Given the description of an element on the screen output the (x, y) to click on. 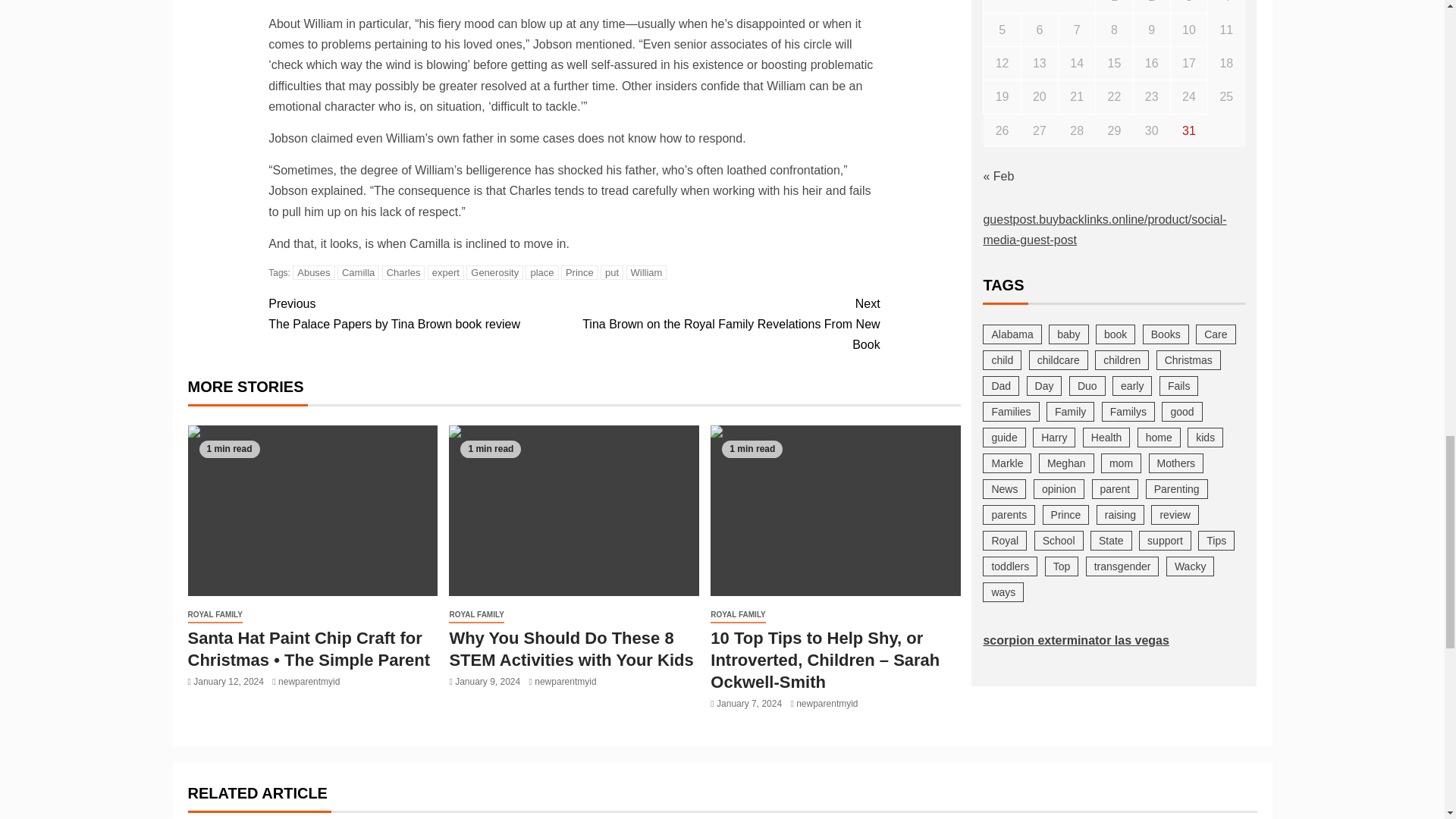
Charles (403, 272)
Abuses (313, 272)
Camilla (357, 272)
